Given the description of an element on the screen output the (x, y) to click on. 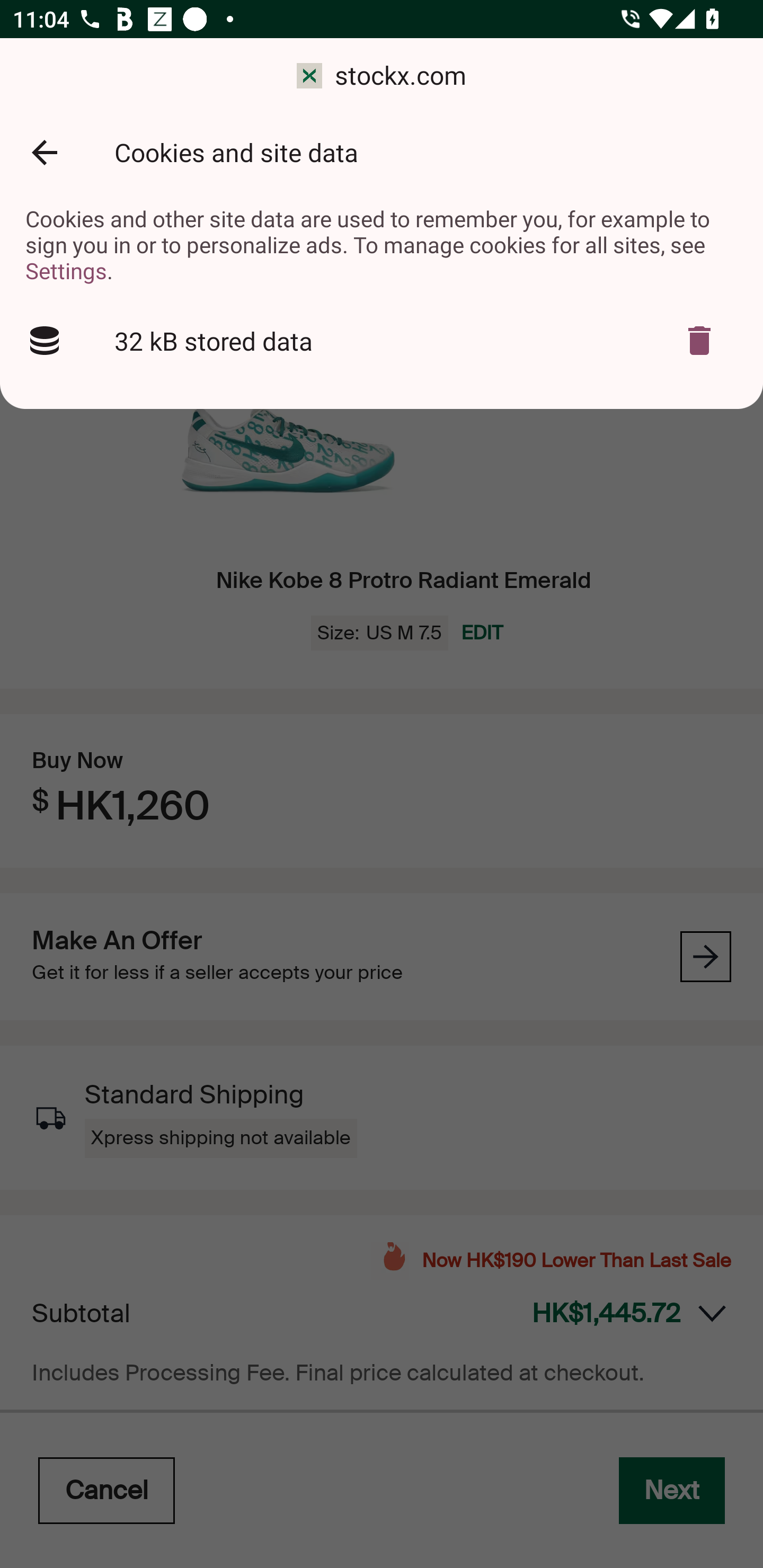
stockx.com (381, 75)
Back (44, 152)
32 kB stored data Delete cookies? (381, 340)
